Given the description of an element on the screen output the (x, y) to click on. 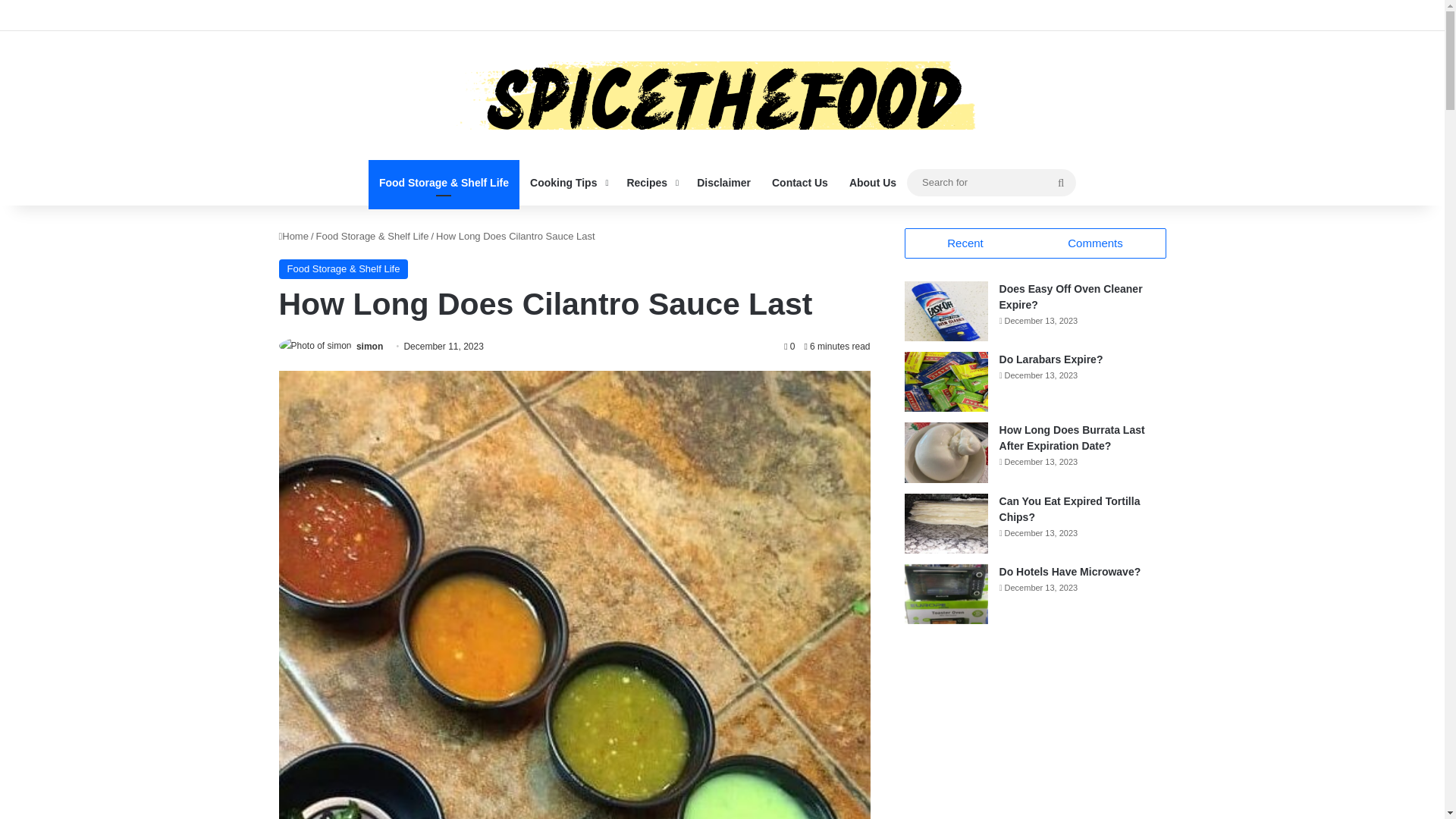
Spicethefood (721, 95)
Disclaimer (723, 182)
Contact Us (799, 182)
simon (369, 346)
About Us (872, 182)
Home (293, 235)
simon (369, 346)
Recipes (650, 182)
Search for (991, 181)
Search for (1060, 182)
